Given the description of an element on the screen output the (x, y) to click on. 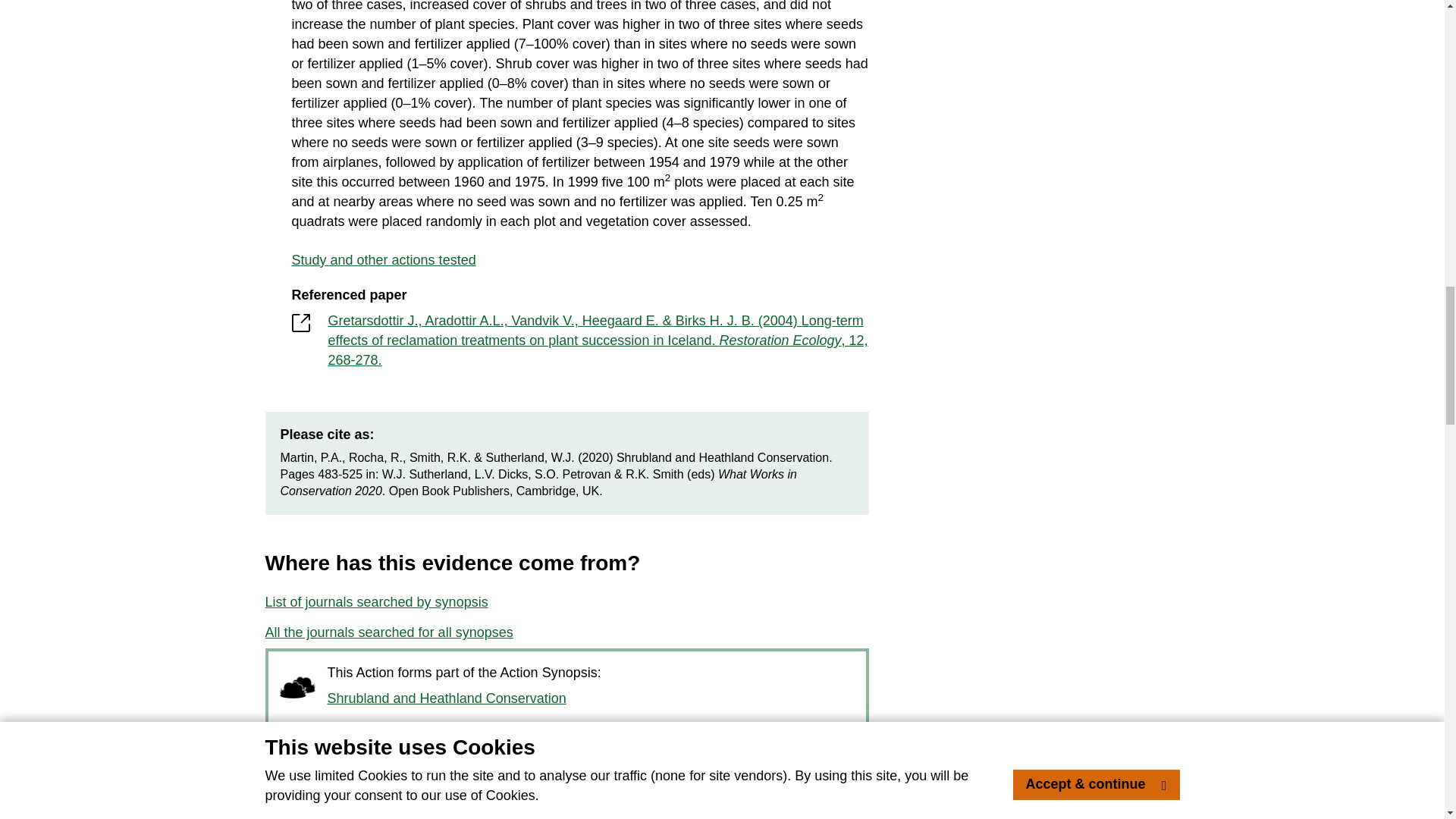
Shrubland and Heathland Conservation (446, 698)
All the journals searched for all synopses (388, 633)
Study and other actions tested (579, 260)
List of journals searched by synopsis (375, 603)
